Given the description of an element on the screen output the (x, y) to click on. 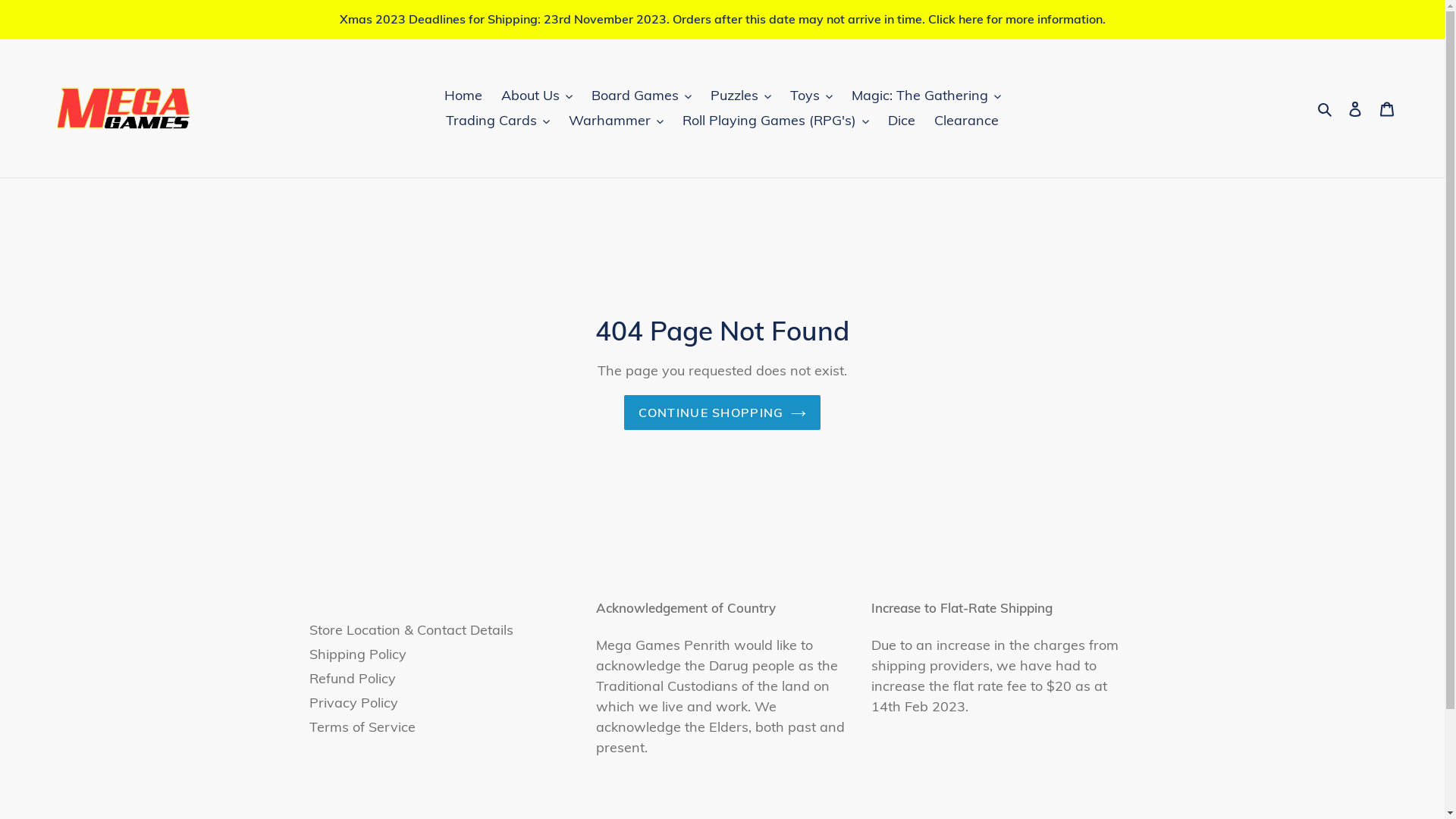
Store Location & Contact Details Element type: text (411, 629)
Privacy Policy Element type: text (353, 702)
Log in Element type: text (1355, 107)
Toys Element type: text (811, 94)
Dice Element type: text (901, 119)
Warhammer Element type: text (616, 119)
Magic: The Gathering Element type: text (925, 94)
Roll Playing Games (RPG's) Element type: text (775, 119)
Search Element type: text (1325, 108)
CONTINUE SHOPPING Element type: text (722, 412)
Trading Cards Element type: text (497, 119)
Puzzles Element type: text (740, 94)
Refund Policy Element type: text (352, 678)
Board Games Element type: text (641, 94)
Shipping Policy Element type: text (357, 653)
Home Element type: text (462, 94)
Terms of Service Element type: text (362, 726)
Cart Element type: text (1386, 107)
Clearance Element type: text (966, 119)
About Us Element type: text (535, 94)
